Given the description of an element on the screen output the (x, y) to click on. 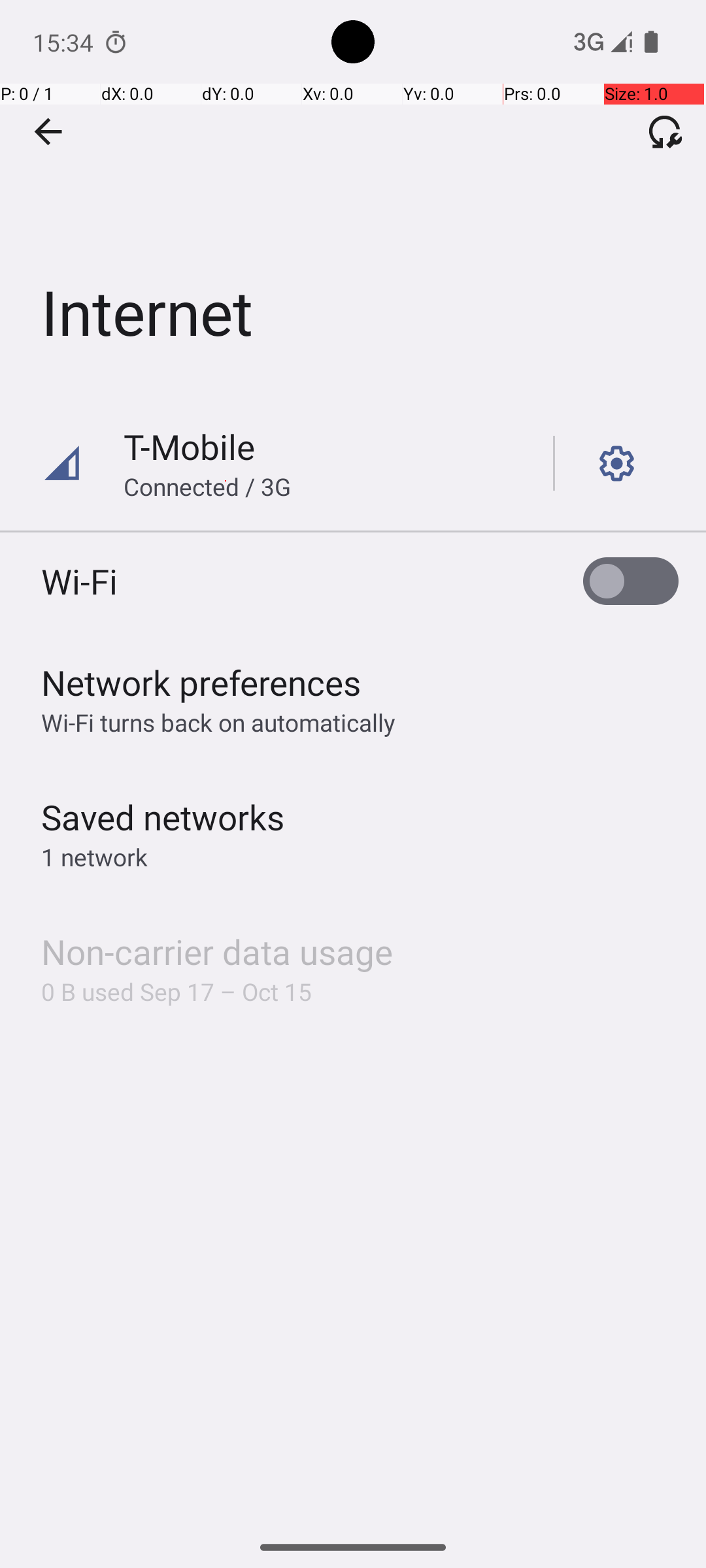
Fix connectivity Element type: android.widget.TextView (664, 131)
Connected / 3G Element type: android.widget.TextView (206, 486)
Wi‑Fi turns back on automatically Element type: android.widget.TextView (218, 721)
Saved networks Element type: android.widget.TextView (163, 816)
1 network Element type: android.widget.TextView (94, 856)
0 B used Sep 17 – Oct 15 Element type: android.widget.TextView (176, 991)
